Given the description of an element on the screen output the (x, y) to click on. 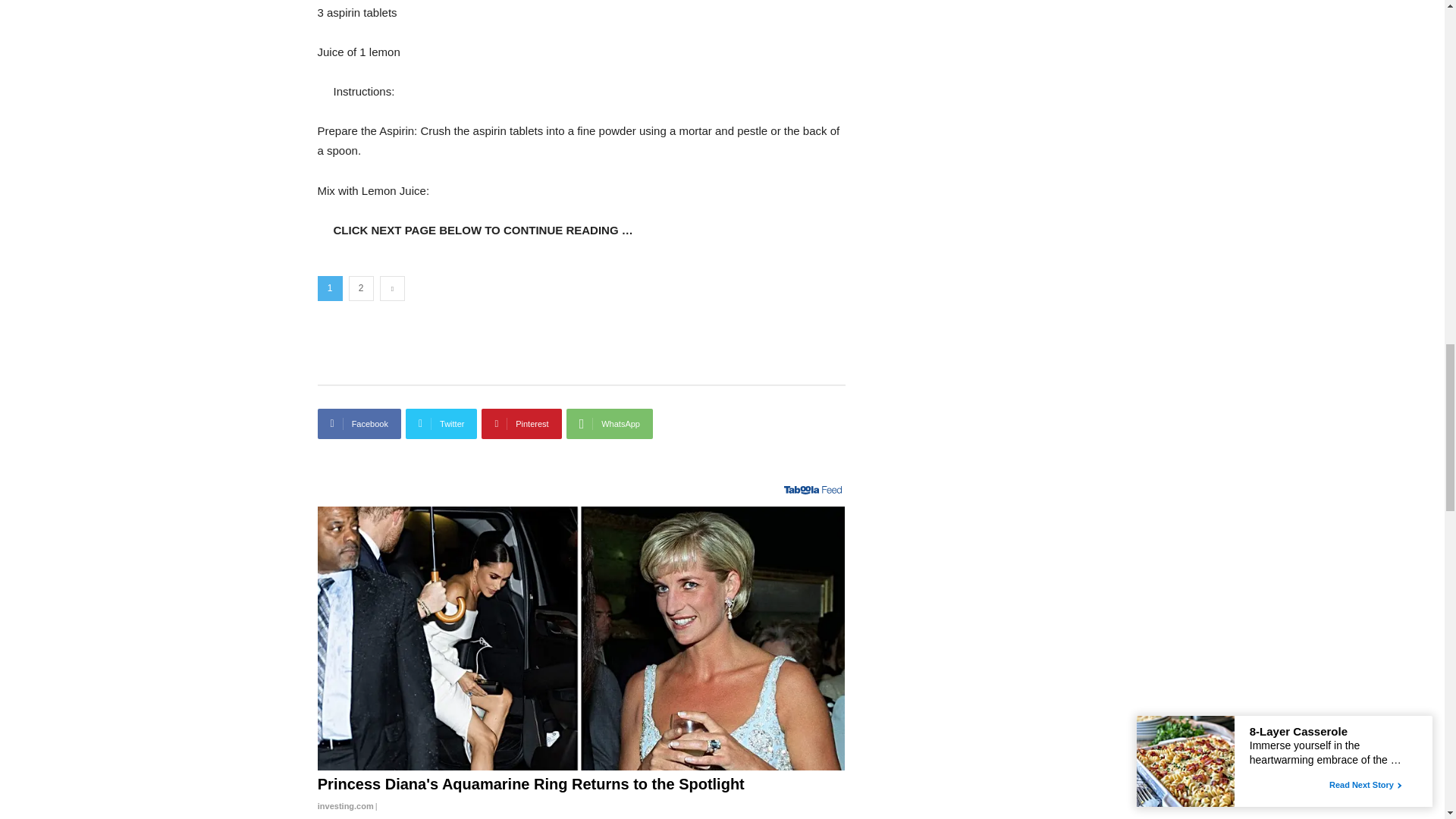
2 (361, 288)
Twitter (441, 423)
Facebook (358, 423)
Pinterest (520, 423)
Facebook (358, 423)
WhatsApp (609, 423)
Twitter (441, 423)
WhatsApp (609, 423)
Pinterest (520, 423)
